Given the description of an element on the screen output the (x, y) to click on. 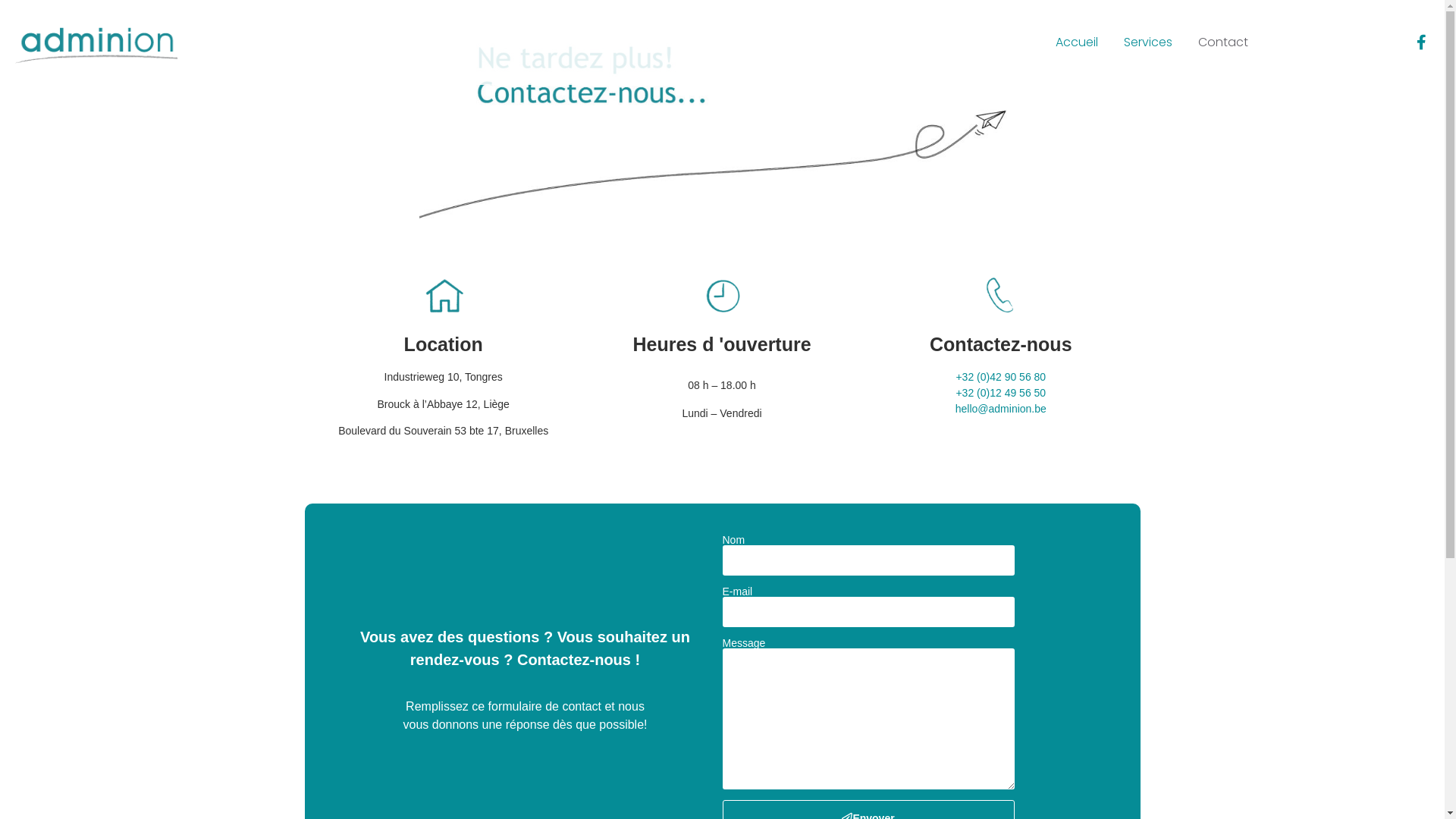
hello@adminion.be Element type: text (1000, 408)
+32 (0)42 90 56 80 Element type: text (1000, 376)
Services Element type: text (1147, 42)
Contact Element type: text (1223, 42)
+32 (0)12 49 56 50 Element type: text (1000, 392)
Accueil Element type: text (1076, 42)
